Given the description of an element on the screen output the (x, y) to click on. 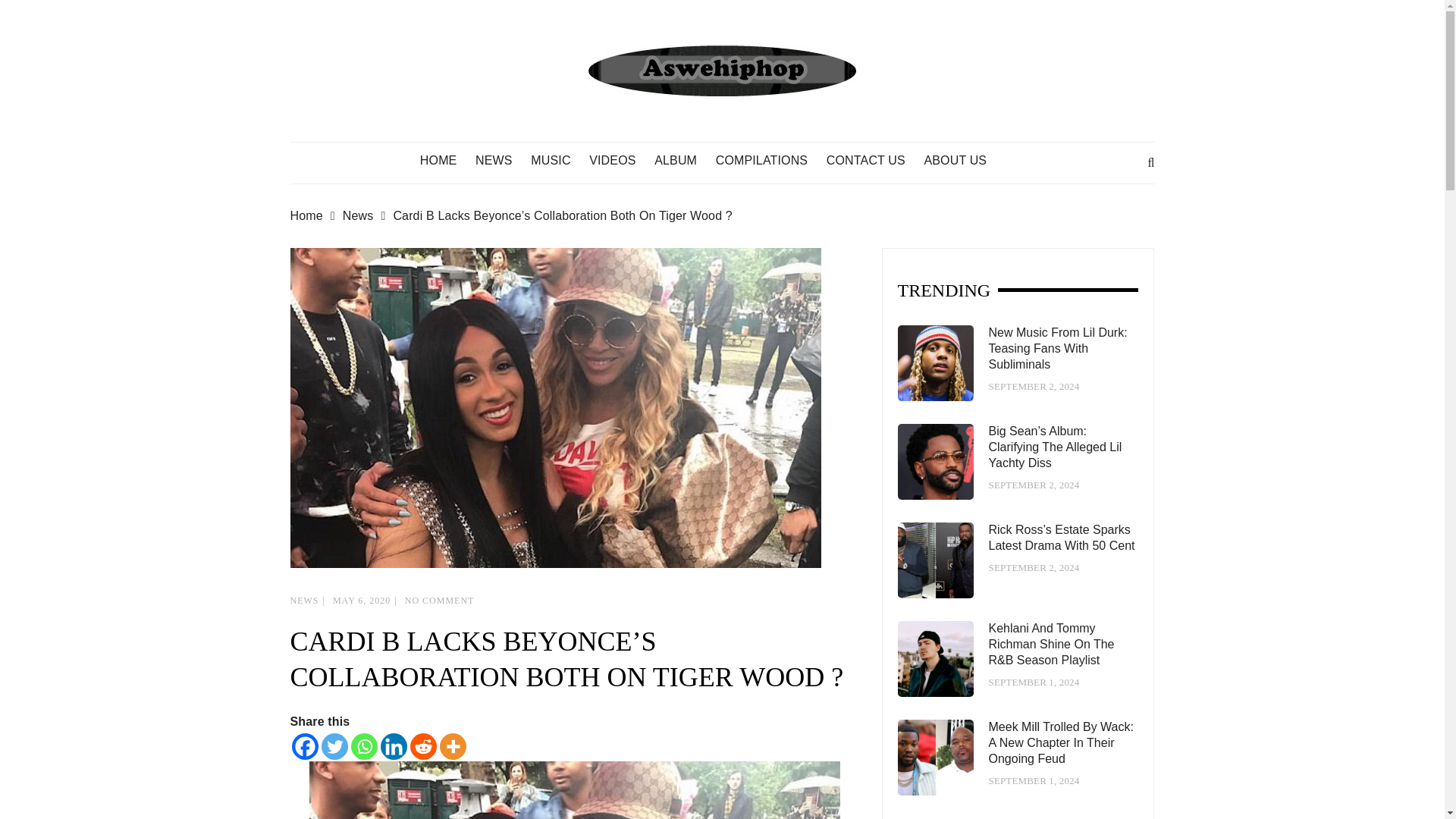
CONTACT US (873, 160)
Home (315, 216)
ALBUM (682, 160)
Whatsapp (363, 746)
HOME (445, 160)
Facebook (304, 746)
News (367, 216)
ABOUT US (962, 160)
NEWS (303, 600)
COMPILATIONS (770, 160)
